Given the description of an element on the screen output the (x, y) to click on. 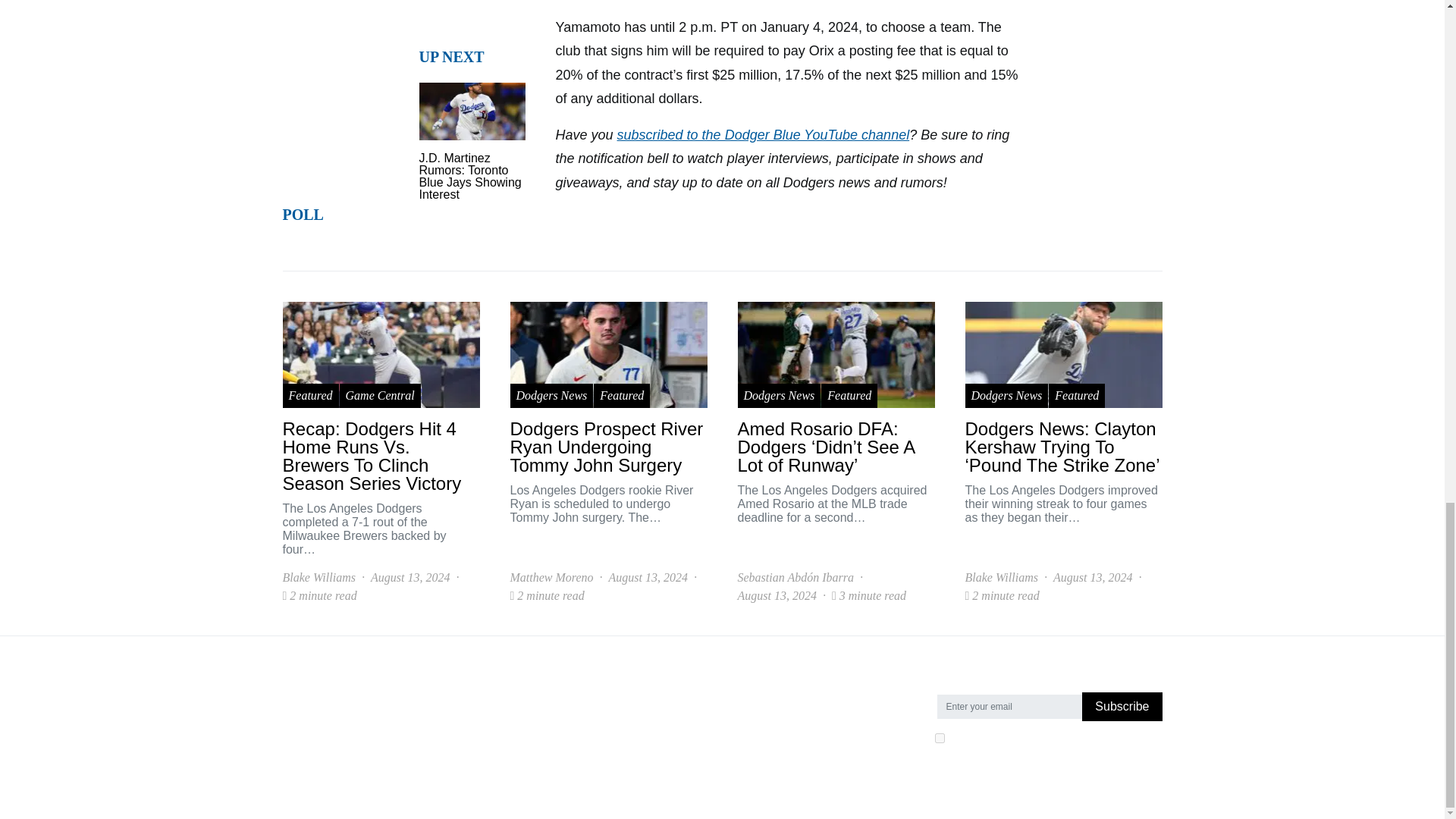
View all posts by Matthew Moreno (550, 577)
on (938, 737)
View all posts by Blake Williams (318, 577)
View all posts by Blake Williams (999, 577)
